Given the description of an element on the screen output the (x, y) to click on. 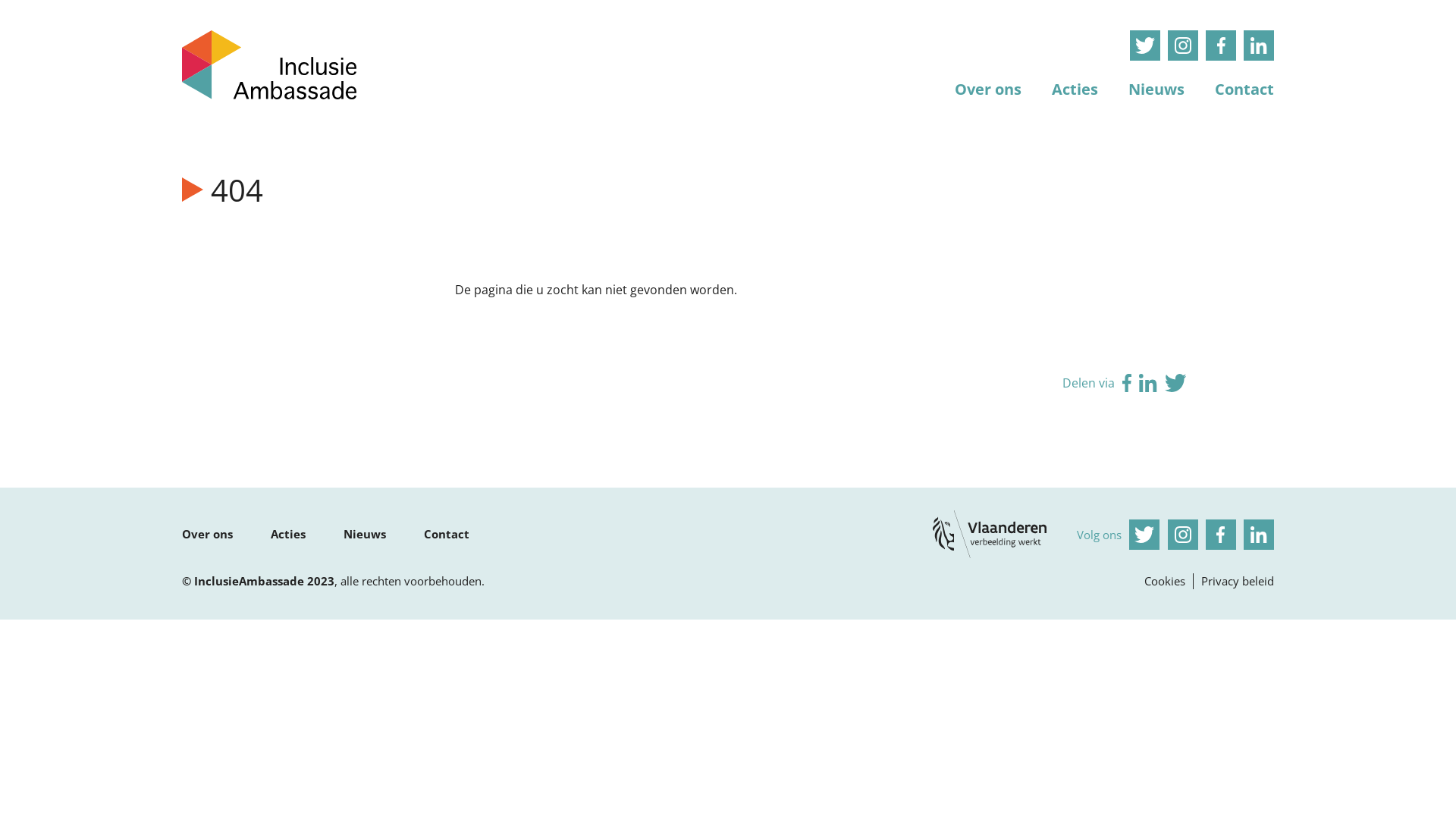
Over ons Element type: text (987, 85)
Over ons Element type: text (207, 534)
Instagram Element type: text (1182, 45)
Nieuws Element type: text (1156, 85)
Vlaanderen Verbeelding werkt Element type: hover (989, 534)
InclusieAmbassade Element type: hover (269, 64)
Overslaan en naar de inhoud gaan Element type: text (0, 0)
LinkedIn Element type: text (1258, 45)
Nieuws Element type: text (364, 534)
Twitter Element type: text (1144, 534)
LinkedIn Element type: text (1258, 534)
LinkedIn Element type: text (1147, 382)
Facebook Element type: text (1220, 534)
Facebook Element type: text (1220, 45)
Instagram Element type: text (1182, 534)
Privacy beleid Element type: text (1237, 580)
Facebook Element type: text (1126, 382)
Contact Element type: text (446, 534)
Twitter Element type: text (1175, 382)
Cookies Element type: text (1164, 580)
Contact Element type: text (1244, 85)
Acties Element type: text (287, 534)
Twitter Element type: text (1144, 45)
Acties Element type: text (1074, 85)
